Given the description of an element on the screen output the (x, y) to click on. 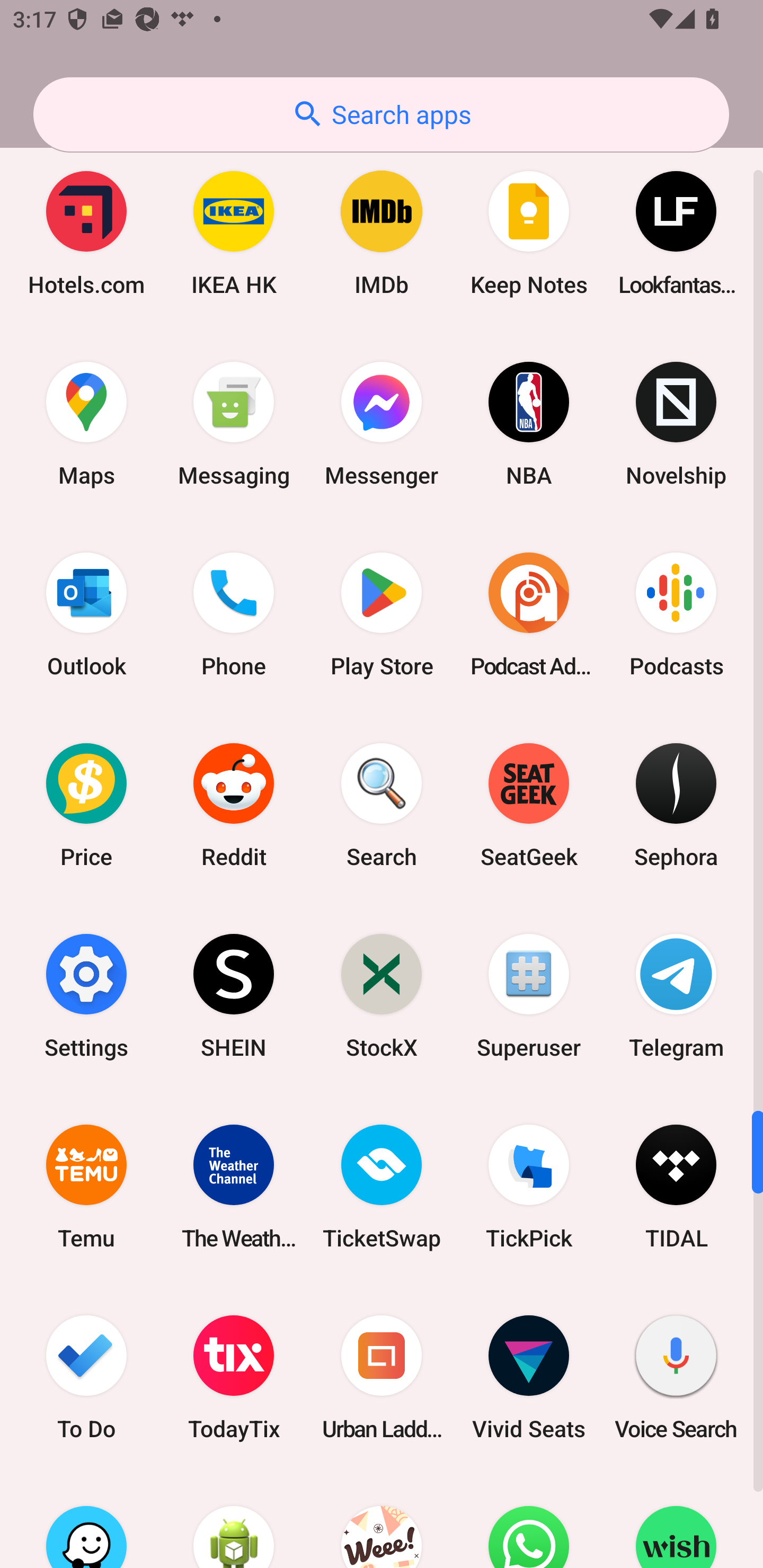
To Do (86, 1377)
